Given the description of an element on the screen output the (x, y) to click on. 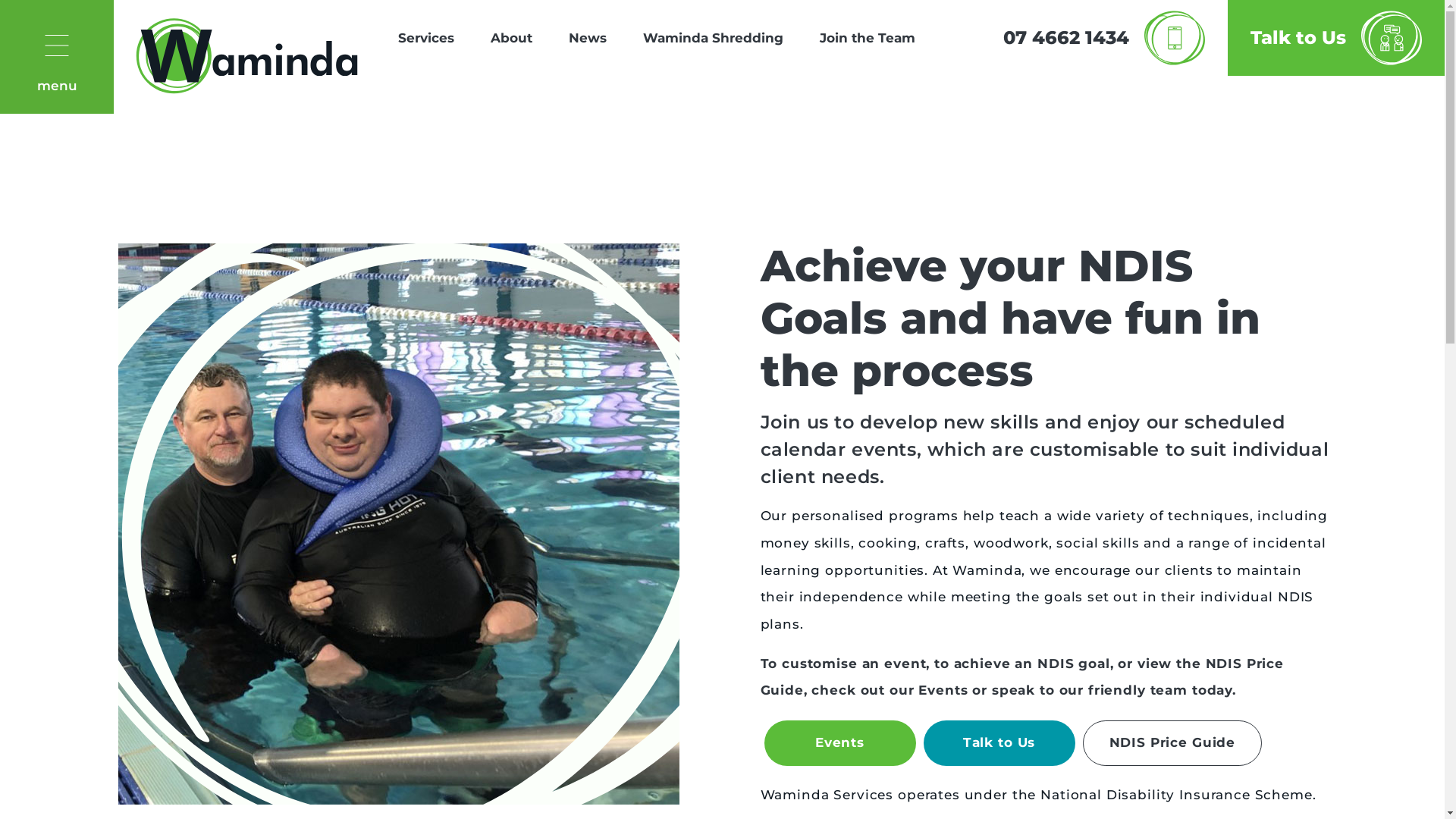
07 4662 1434 Element type: text (1103, 37)
NDIS Price Guide Element type: text (1172, 742)
Join the Team Element type: text (867, 37)
menu Element type: text (56, 56)
Events Element type: text (840, 742)
Talk to Us Element type: text (999, 742)
Waminda Shredding Element type: text (712, 37)
Waminda Element type: hover (246, 56)
Talk to Us Element type: text (1335, 37)
News Element type: text (587, 37)
About Element type: text (511, 37)
Services Element type: text (425, 37)
